Given the description of an element on the screen output the (x, y) to click on. 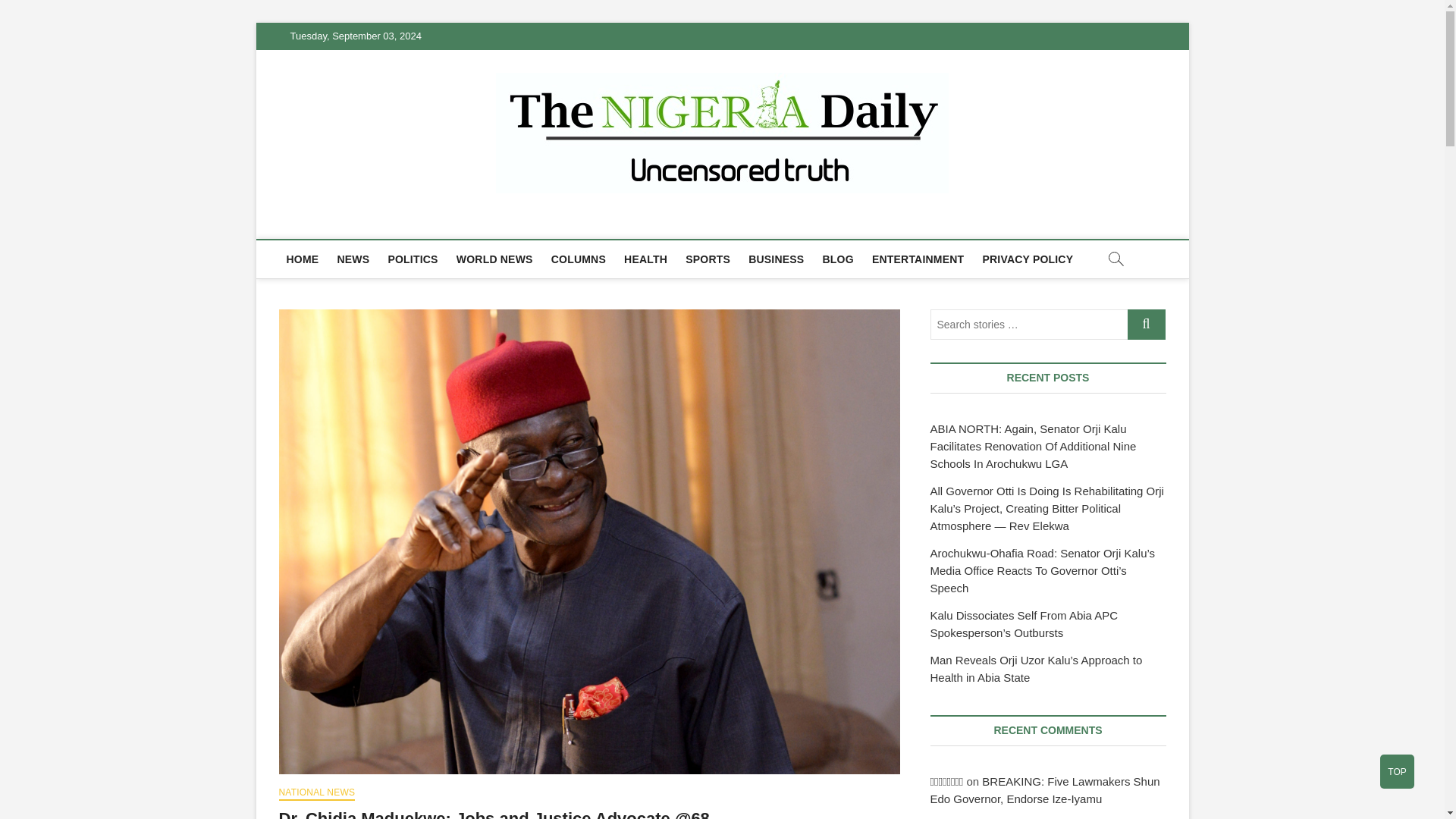
The Nigeria Daily (391, 221)
POLITICS (412, 259)
COLUMNS (577, 259)
ENTERTAINMENT (917, 259)
The Nigeria Daily (391, 221)
WORLD NEWS (494, 259)
NATIONAL NEWS (317, 793)
HEALTH (645, 259)
